Given the description of an element on the screen output the (x, y) to click on. 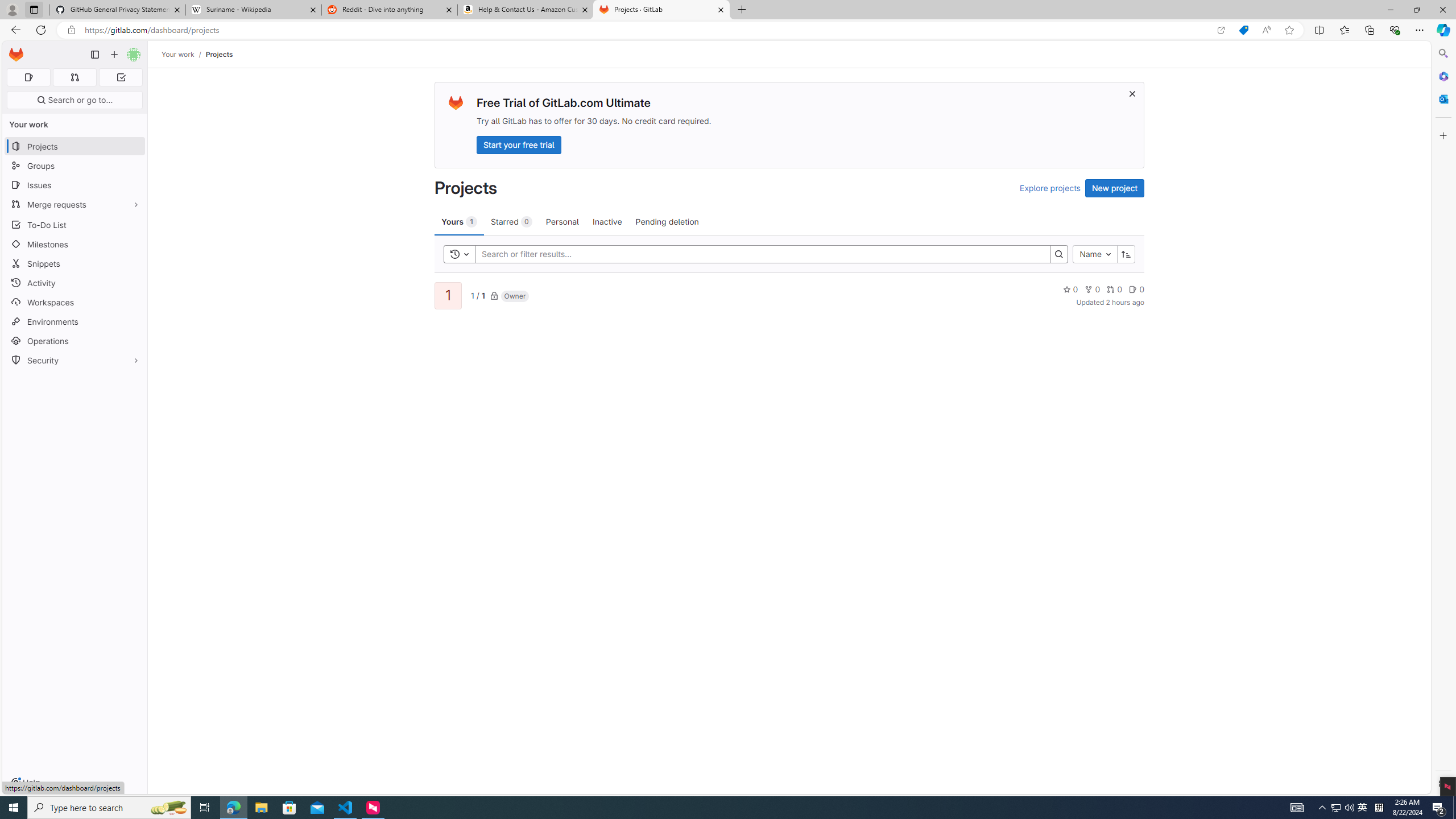
Issues (74, 185)
To-Do List (74, 224)
Security (74, 359)
1 (447, 295)
Issues (74, 185)
Merge requests (74, 203)
Class: s16 (494, 295)
Projects (218, 53)
Projects (218, 53)
